Given the description of an element on the screen output the (x, y) to click on. 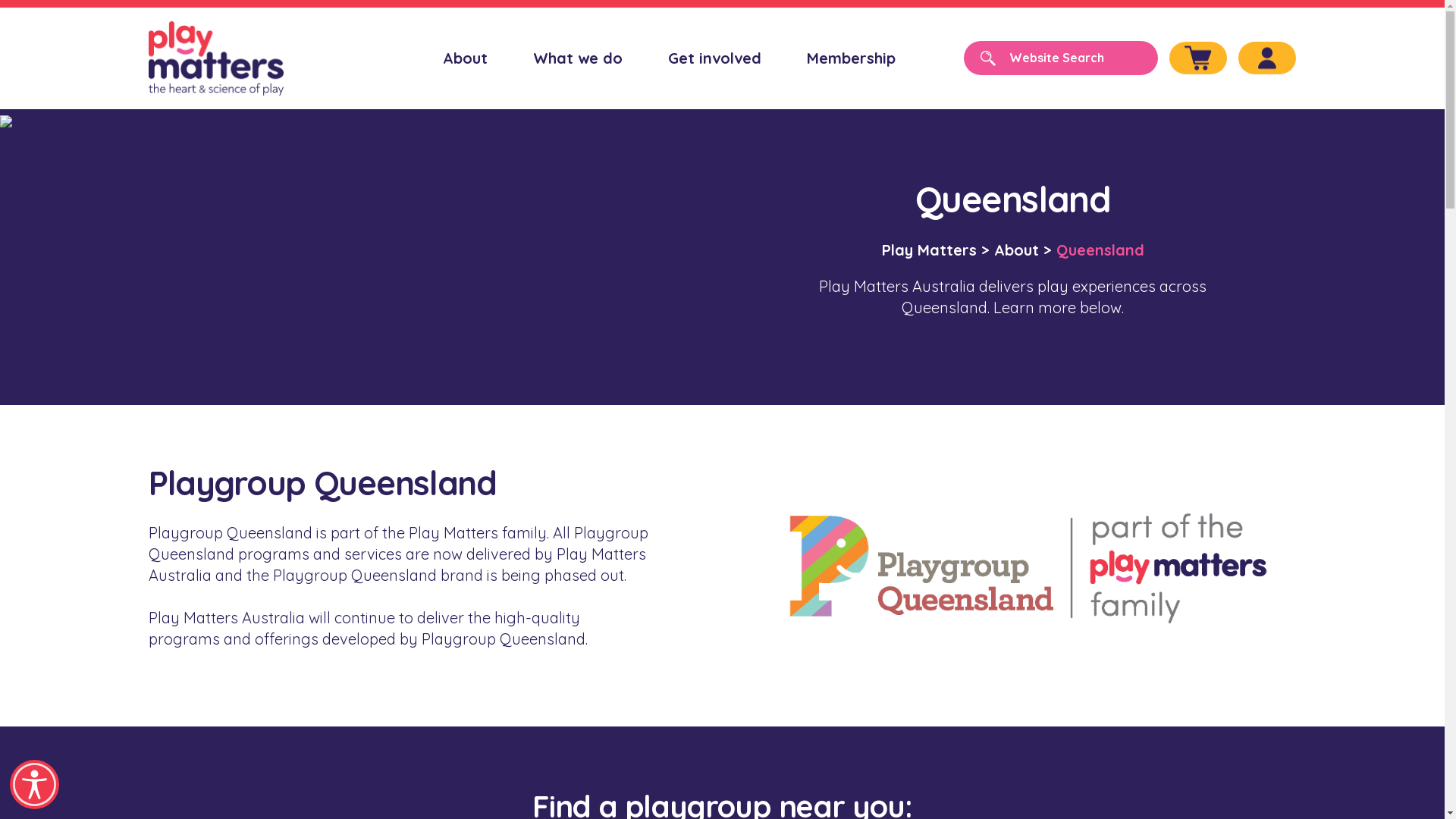
Play Matters > Element type: text (934, 248)
What we do Element type: text (577, 58)
Membership Element type: text (851, 58)
Get involved Element type: text (714, 58)
About Element type: text (465, 58)
About > Element type: text (1022, 248)
